Given the description of an element on the screen output the (x, y) to click on. 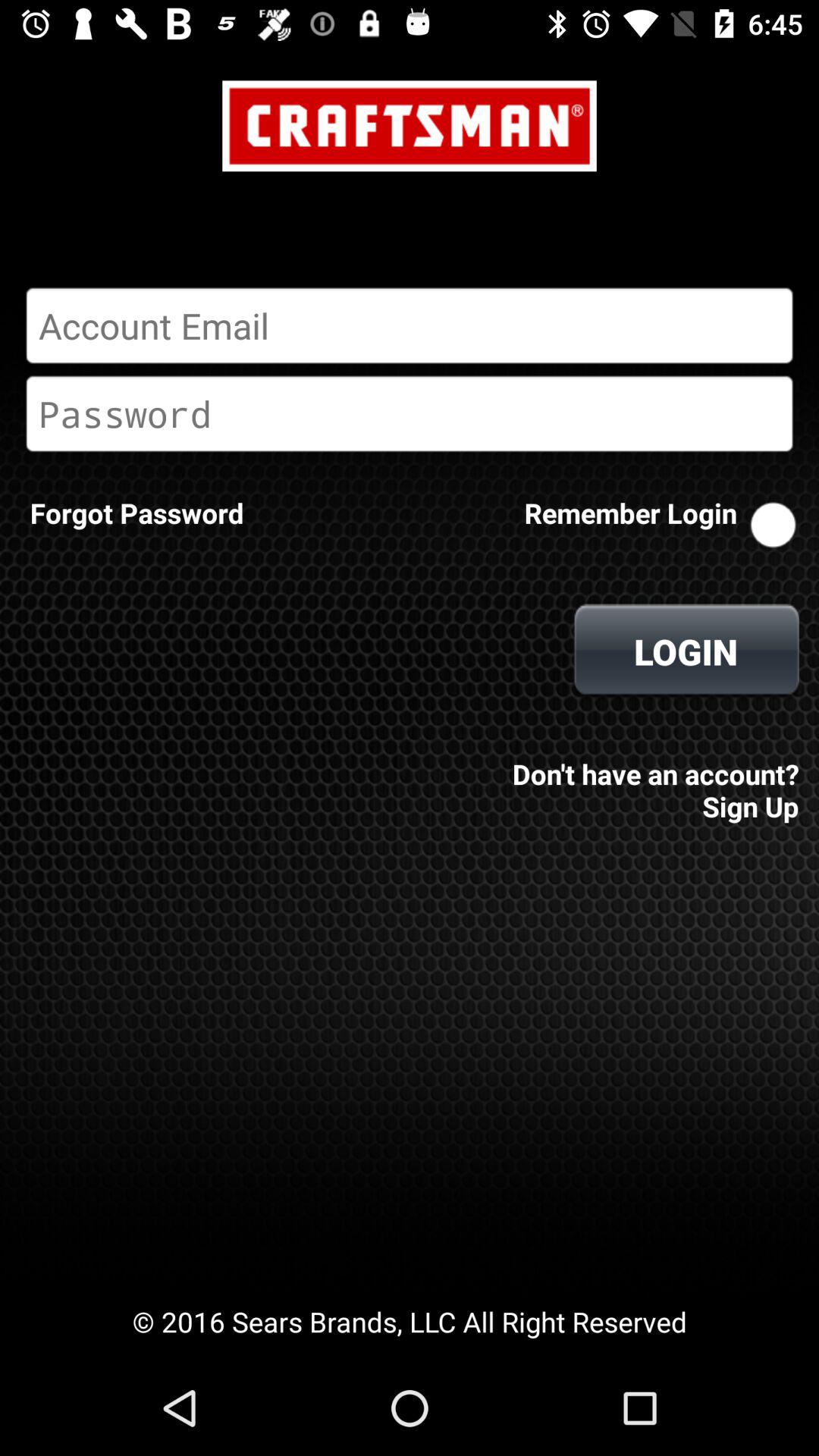
choose forgot password icon (136, 512)
